Given the description of an element on the screen output the (x, y) to click on. 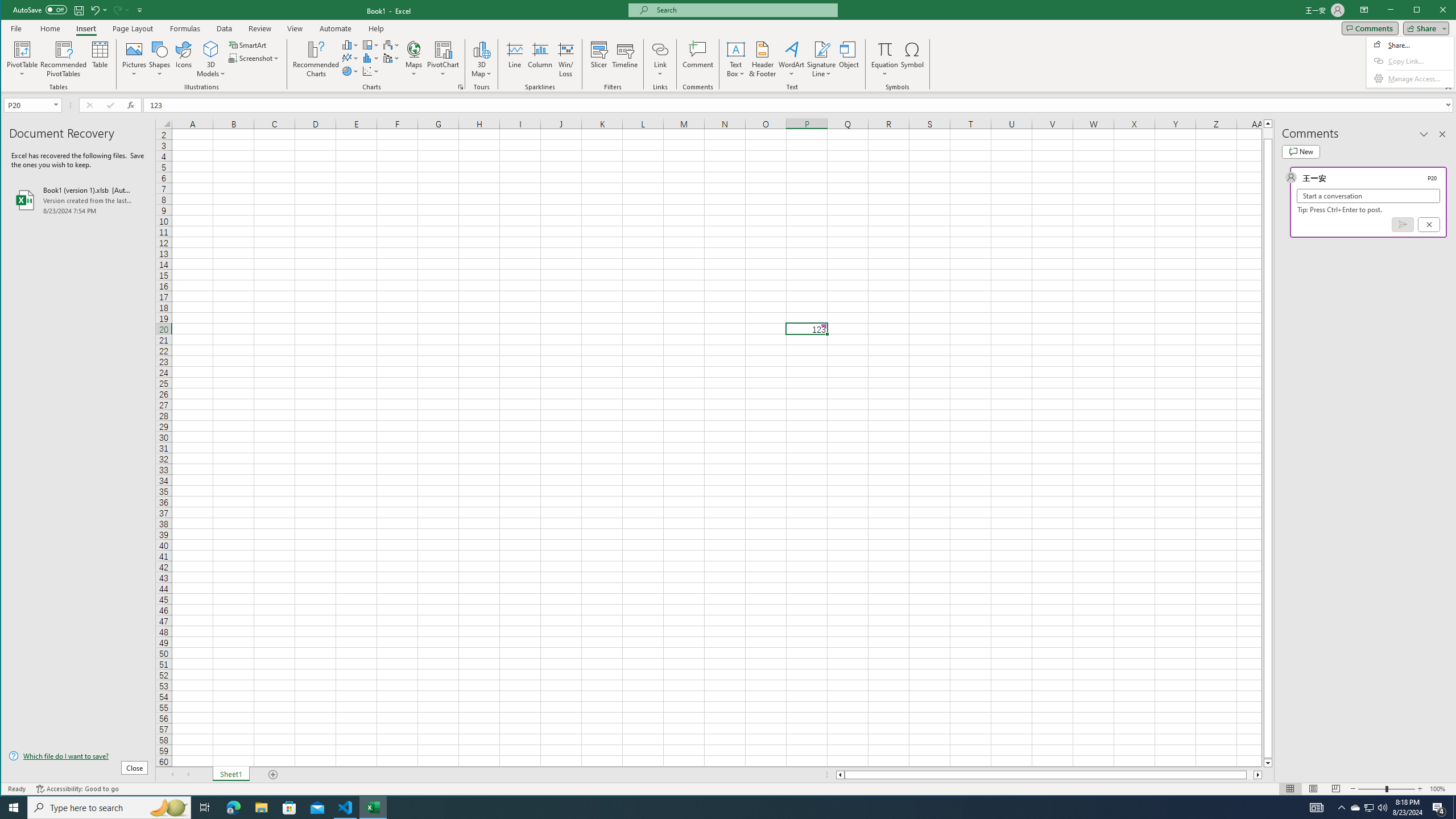
Win/Loss (565, 59)
3D Models (211, 59)
Draw Horizontal Text Box (735, 48)
Equation (884, 59)
Symbol... (912, 59)
Page up (1267, 132)
Signature Line (821, 48)
